Given the description of an element on the screen output the (x, y) to click on. 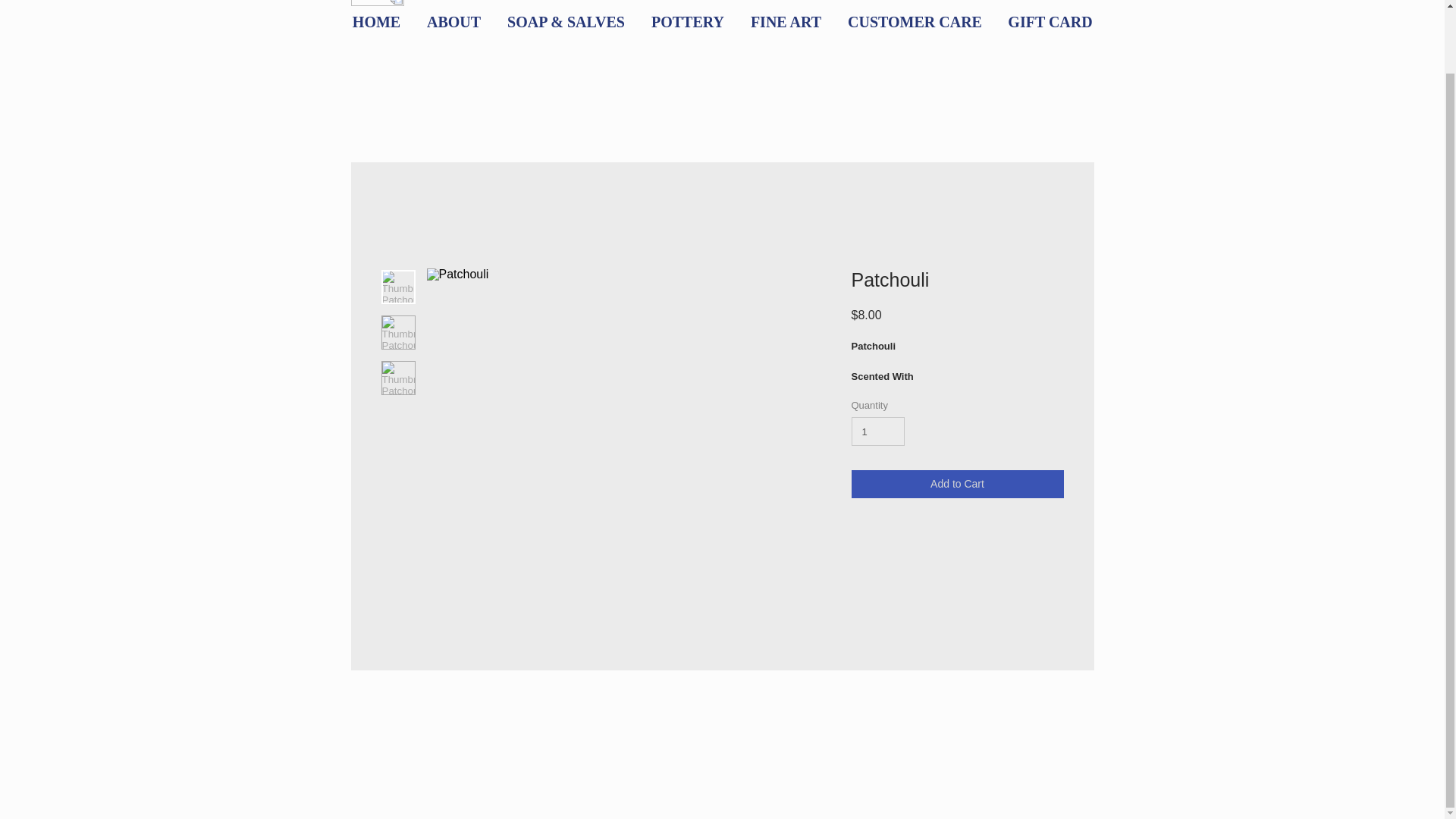
ABOUT (454, 21)
CUSTOMER CARE (914, 21)
1 (877, 430)
HOME (376, 21)
FINE ART (785, 21)
Lazuli Artisan  (568, 3)
POTTERY (688, 21)
Add to Cart (956, 483)
GIFT CARD (1049, 21)
